Given the description of an element on the screen output the (x, y) to click on. 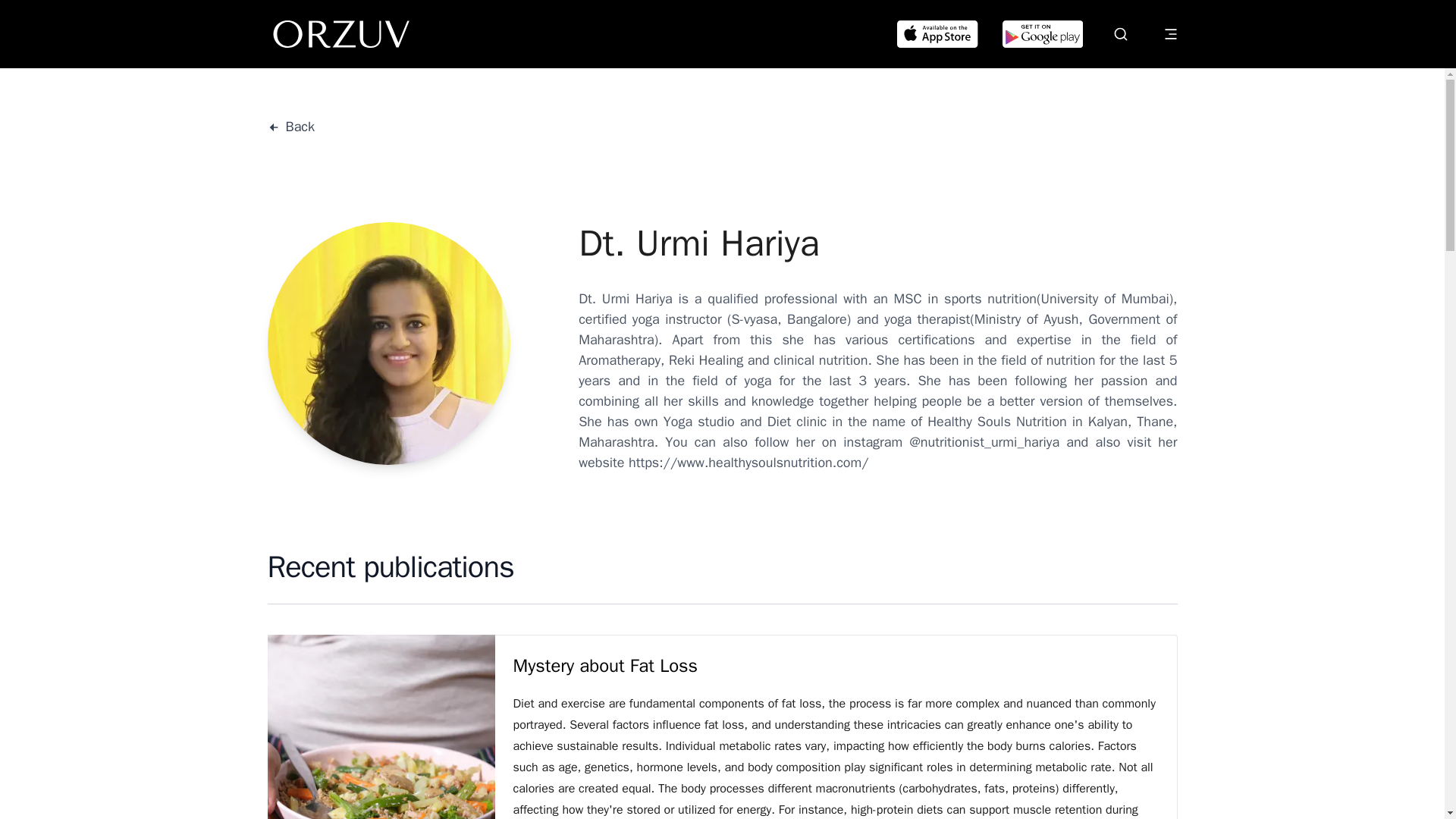
Back (290, 127)
Home (341, 33)
